Given the description of an element on the screen output the (x, y) to click on. 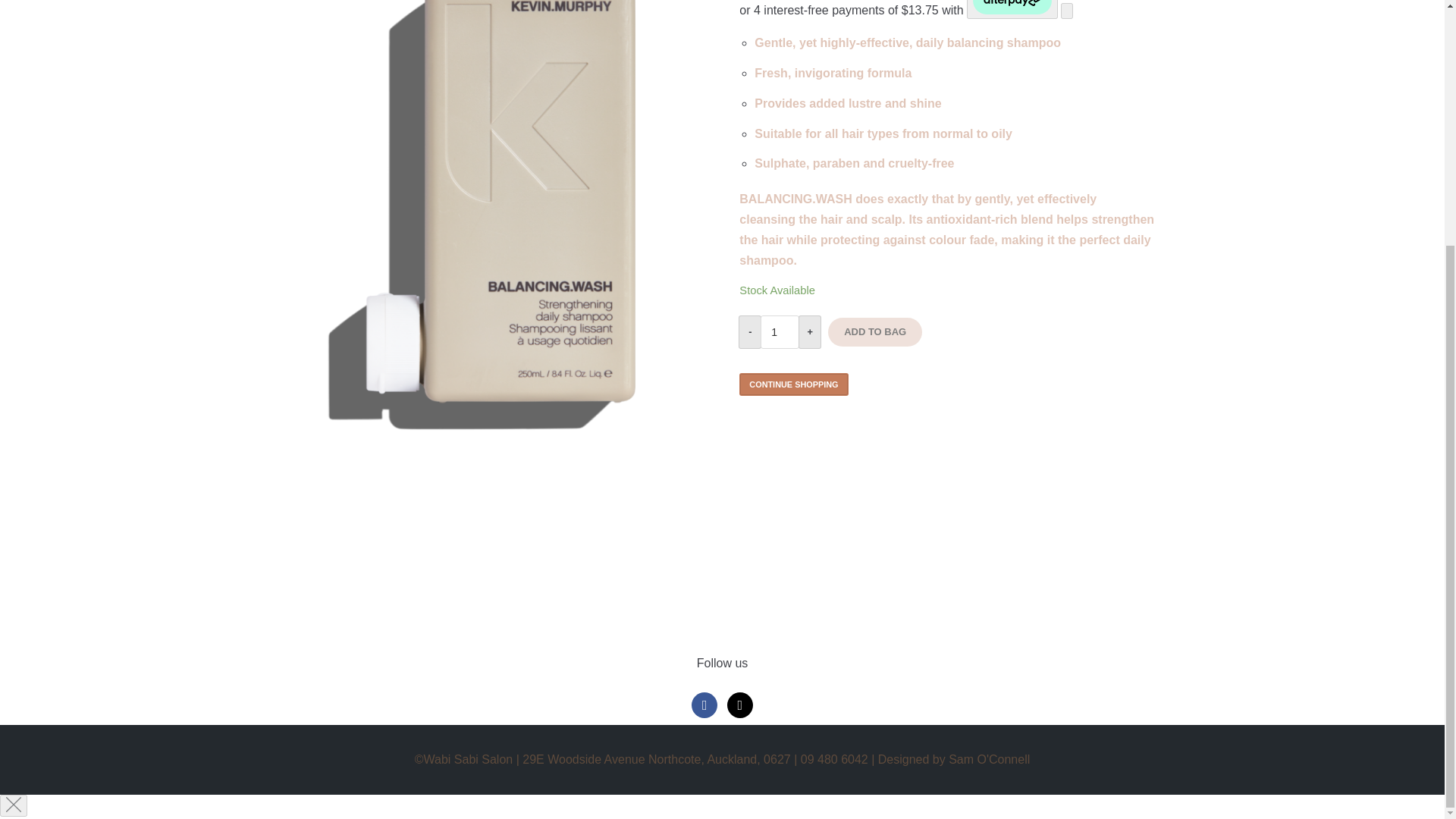
Search (1235, 67)
Qty (779, 331)
1 (779, 331)
